Given the description of an element on the screen output the (x, y) to click on. 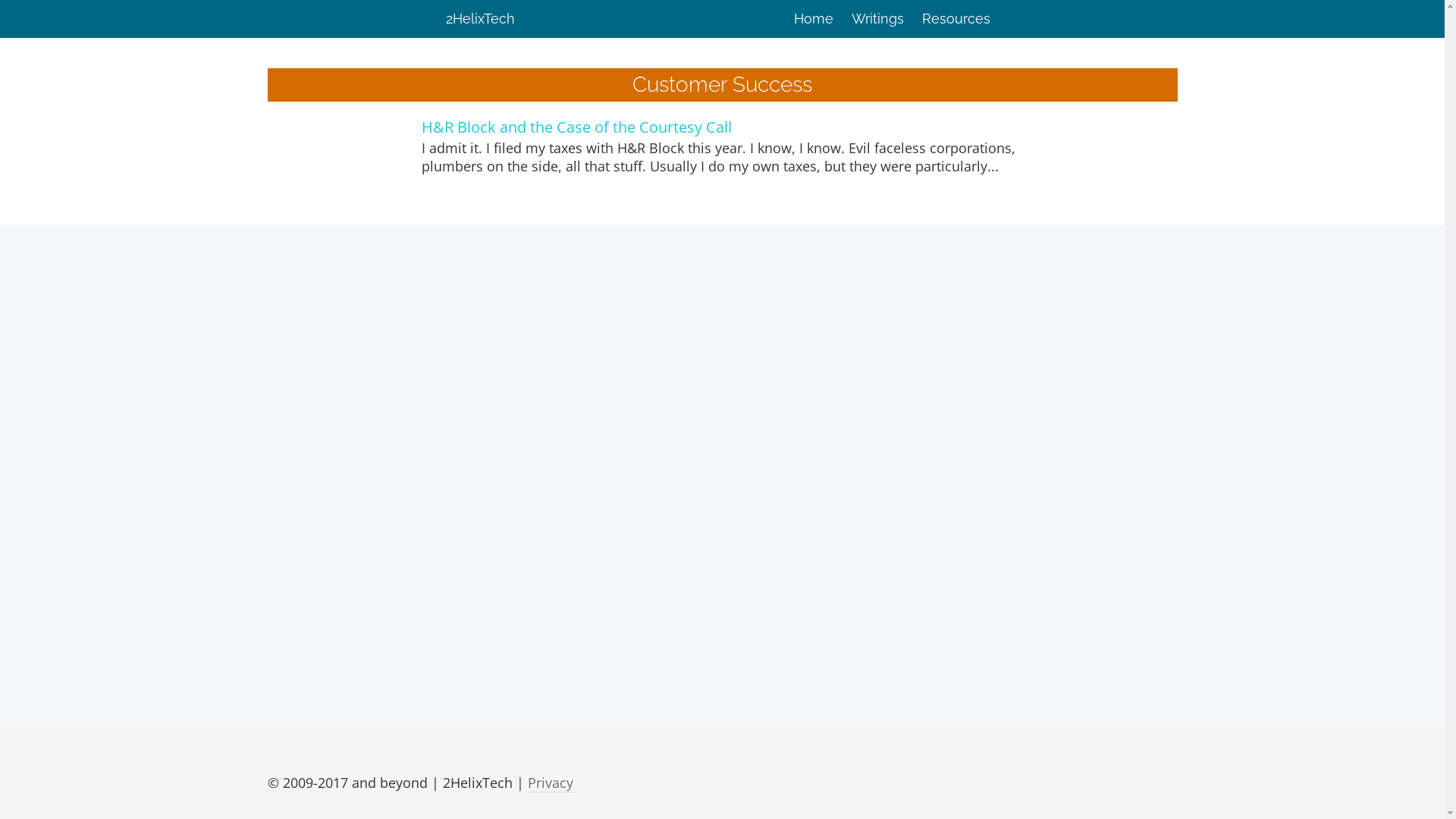
H&R Block and the Case of the Courtesy Call Element type: text (576, 126)
Home Element type: text (812, 18)
Privacy Element type: text (550, 782)
Resources Element type: text (956, 18)
Writings Element type: text (876, 18)
2HelixTech Element type: text (483, 18)
